Given the description of an element on the screen output the (x, y) to click on. 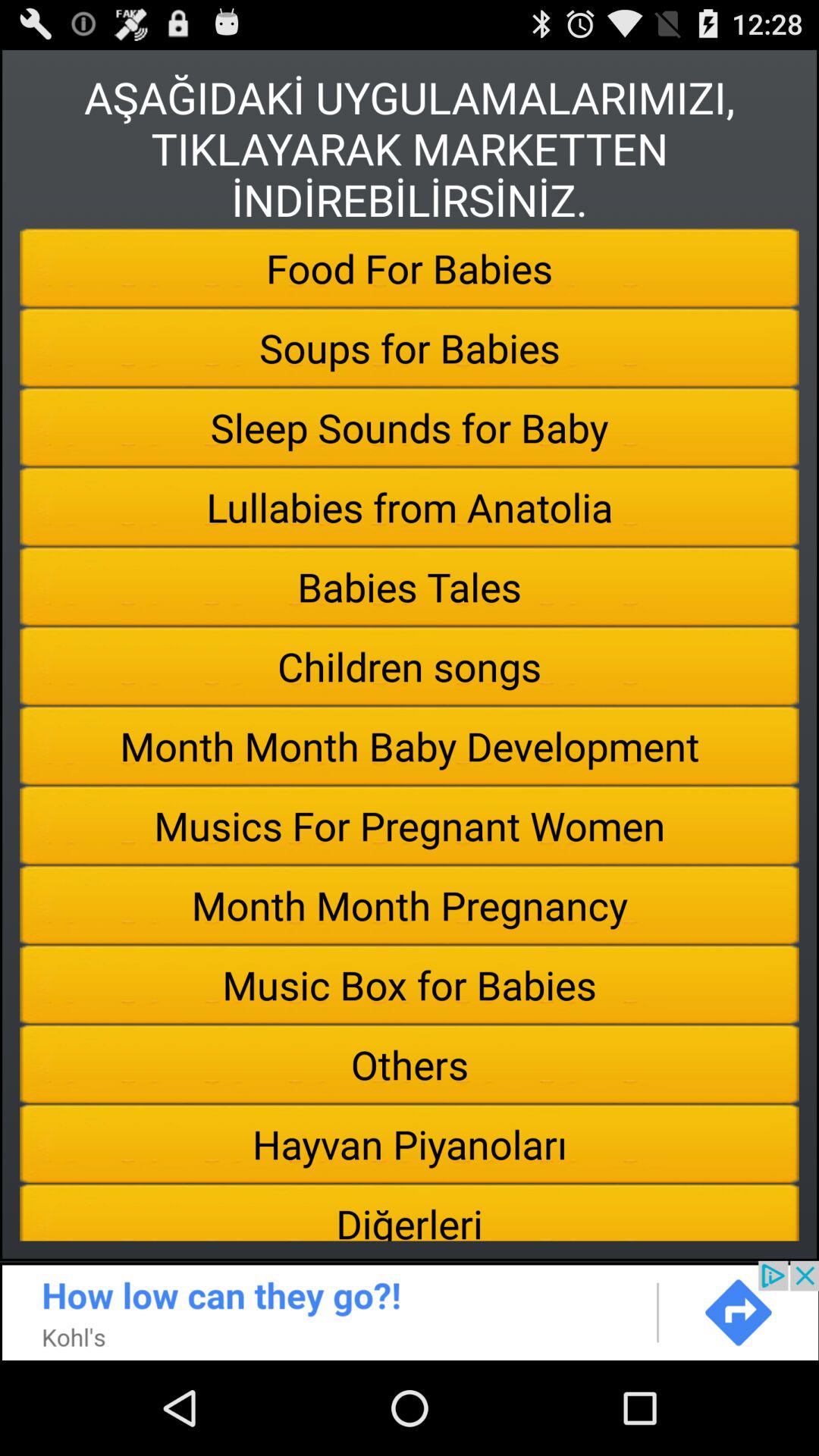
advertisement page (409, 1310)
